Given the description of an element on the screen output the (x, y) to click on. 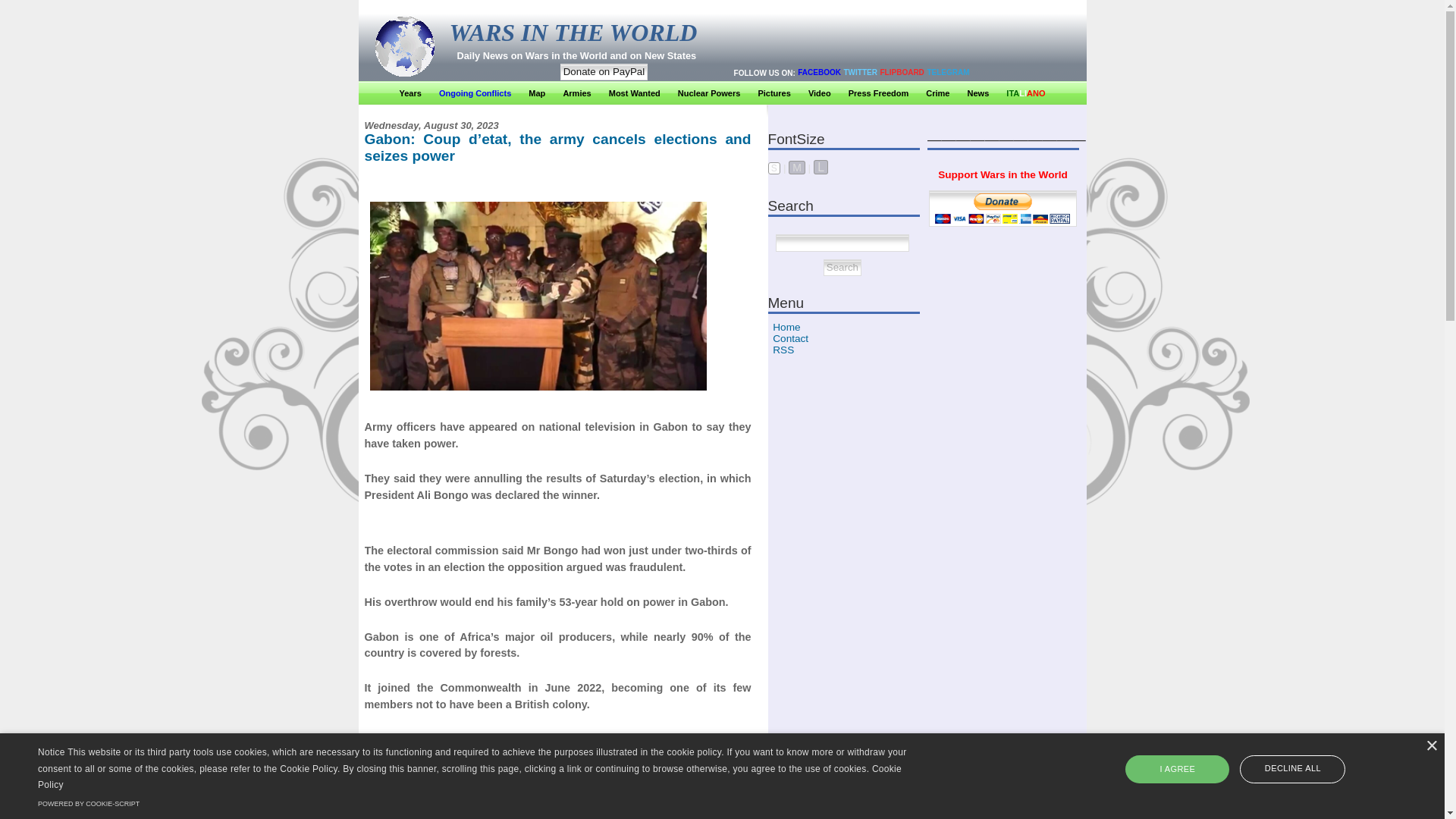
Ongoing Conflicts (475, 92)
Pictures (773, 92)
Donate on PayPal (603, 71)
Creme Spalmabili al Cioccolato Chocolate Spreads (1002, 813)
TWITTER (860, 71)
Nuclear Powers (709, 92)
Manualinux, the Linux Manual (1003, 776)
News (979, 92)
FACEBOOK (819, 71)
Crime (937, 92)
Years (409, 92)
WARS IN THE WORLD (572, 31)
FLIPBOARD (902, 71)
Most Wanted (634, 92)
ITALIANO (1025, 92)
